Given the description of an element on the screen output the (x, y) to click on. 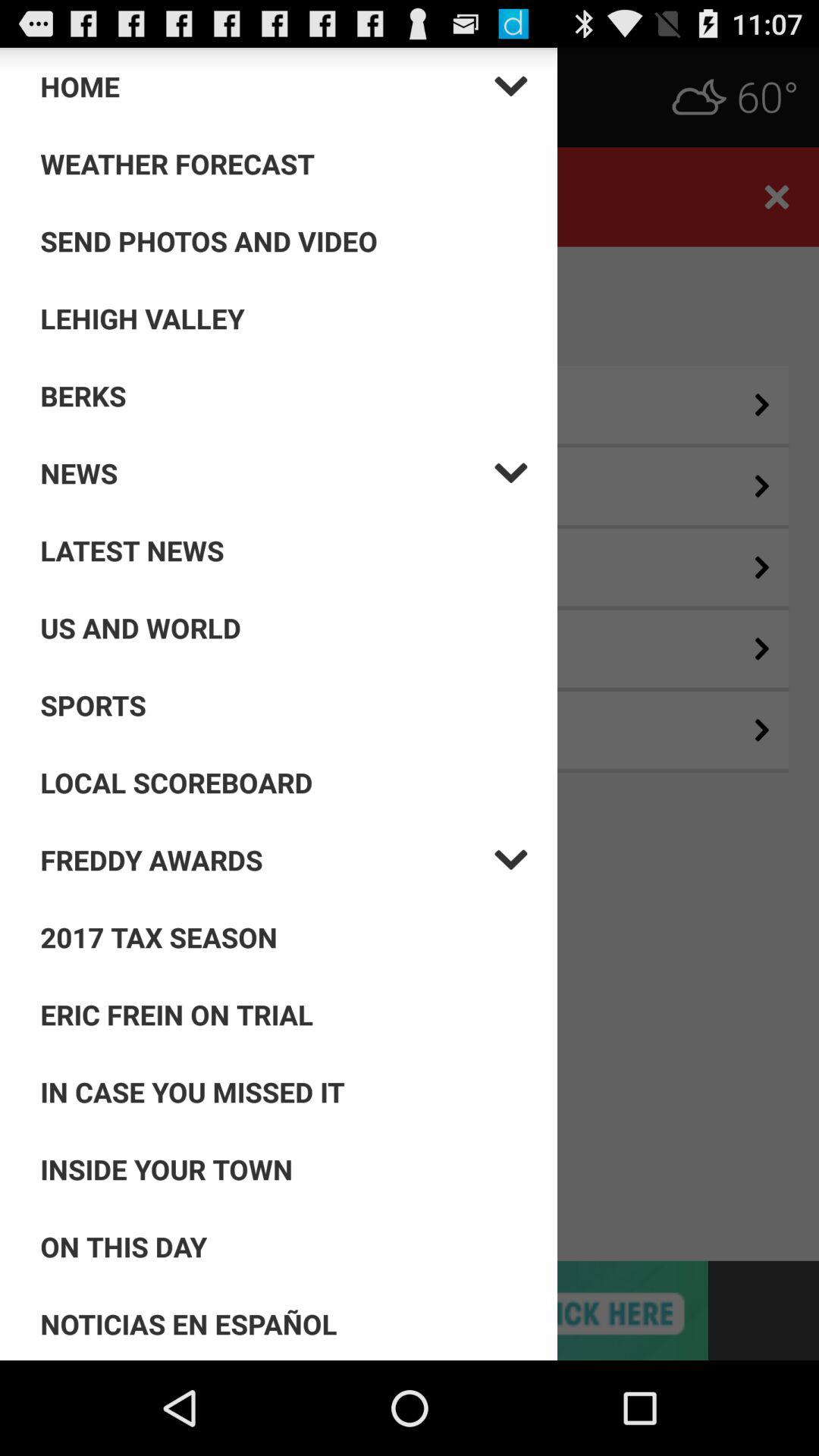
click on local scoreboard which is below sports (283, 782)
